Given the description of an element on the screen output the (x, y) to click on. 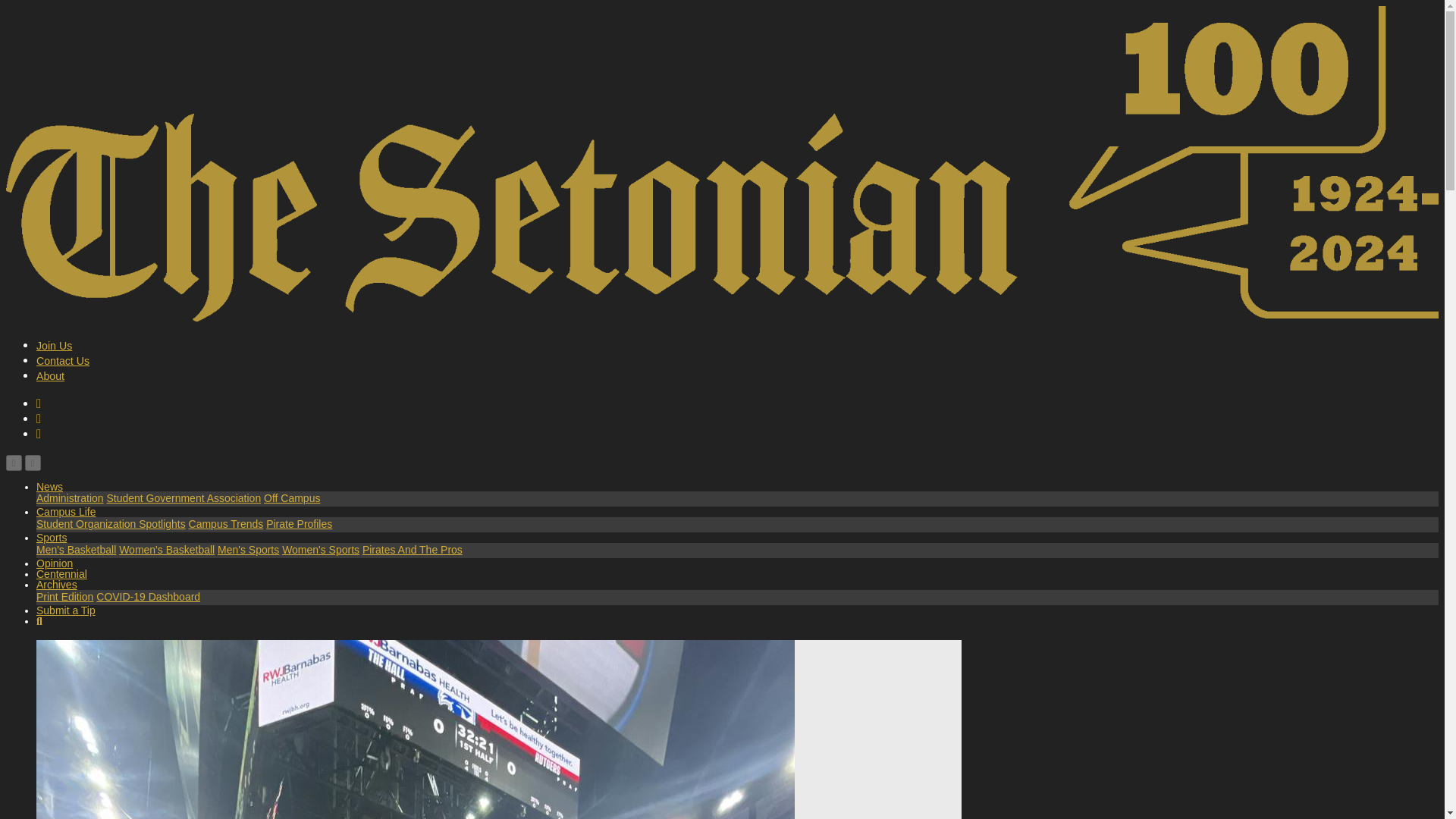
Men'S Sports (247, 549)
Pirates And The Pros (412, 549)
Submit a Tip (66, 610)
About (50, 376)
Campus Trends (226, 523)
Pirate Profiles (298, 523)
News (49, 486)
COVID-19 Dashboard (148, 596)
Print Edition (64, 596)
Student Organization Spotlights (111, 523)
Submit a Tip (66, 610)
Women'S Basketball (166, 549)
Archives (56, 584)
Off Campus (291, 498)
Men'S Basketball (76, 549)
